Given the description of an element on the screen output the (x, y) to click on. 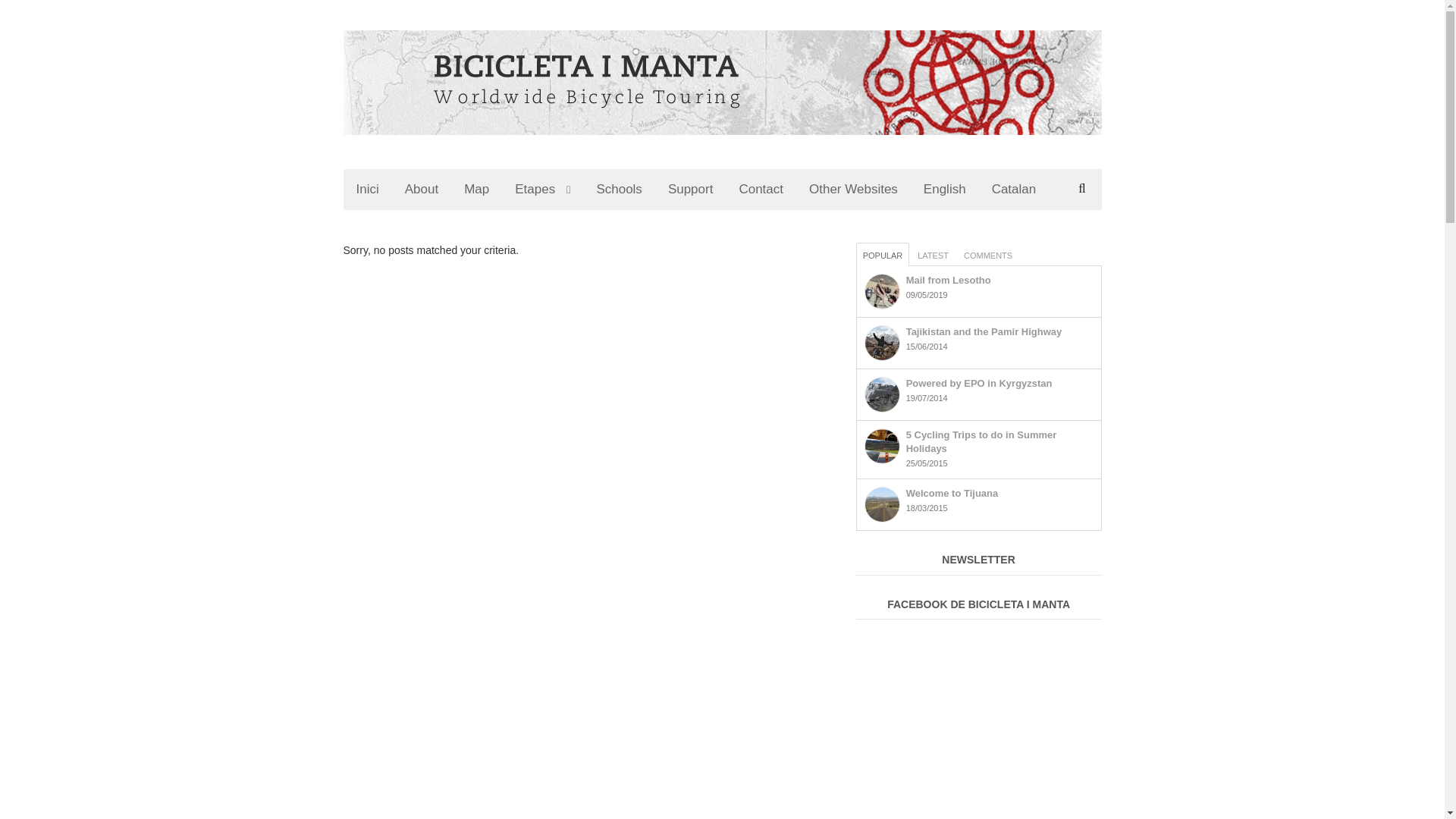
POPULAR (883, 254)
Catalan (1013, 188)
Powered by EPO in Kyrgyzstan (881, 394)
Bicicleta i Manta (460, 150)
Etapes (542, 188)
Schools (618, 188)
Contact (760, 188)
Tajikistan and the Pamir Highway (983, 331)
About (421, 188)
English (944, 188)
